Given the description of an element on the screen output the (x, y) to click on. 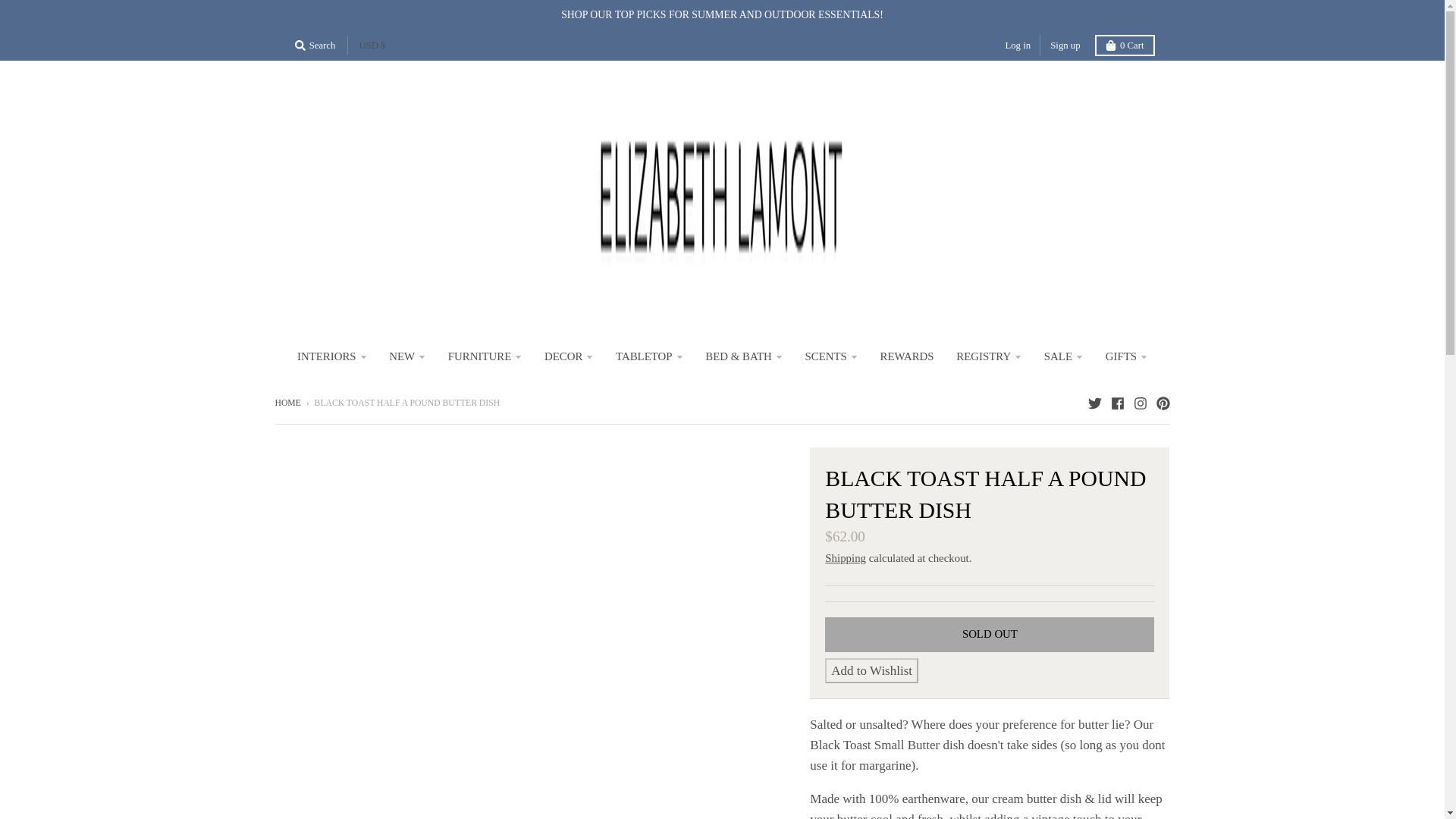
Facebook - Elizabeth Lamont (1116, 402)
Twitter - Elizabeth Lamont (1093, 402)
Back to the frontpage (287, 402)
Search (314, 45)
Add to Wishlist (871, 670)
Pinterest - Elizabeth Lamont (1162, 402)
Instagram - Elizabeth Lamont (1139, 402)
